Given the description of an element on the screen output the (x, y) to click on. 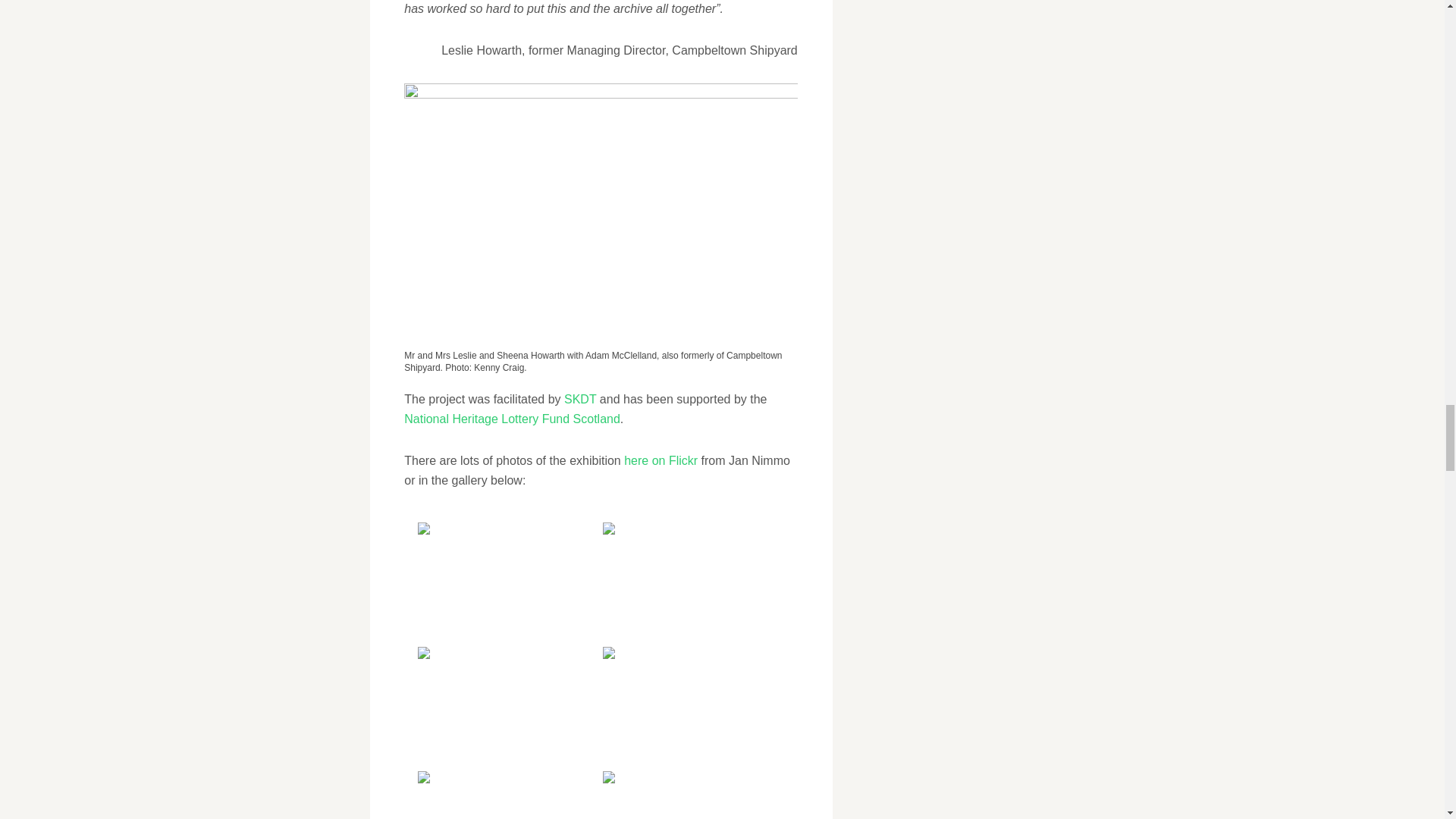
Top Skippers' Choice - Jan Nimmo (507, 582)
SKDT (579, 399)
here on Flickr (660, 460)
Top Skippers' Choice - Jan Nimmo (507, 707)
Top Skippers' Choice - Jan Nimmo (507, 795)
Top Skippers' Choice - Jan Nimmo (693, 582)
Top Skippers' Choice - Jan Nimmo (693, 795)
Top Skippers' Choice - Jan Nimmo (693, 707)
National Heritage Lottery Fund Scotland (512, 418)
